Given the description of an element on the screen output the (x, y) to click on. 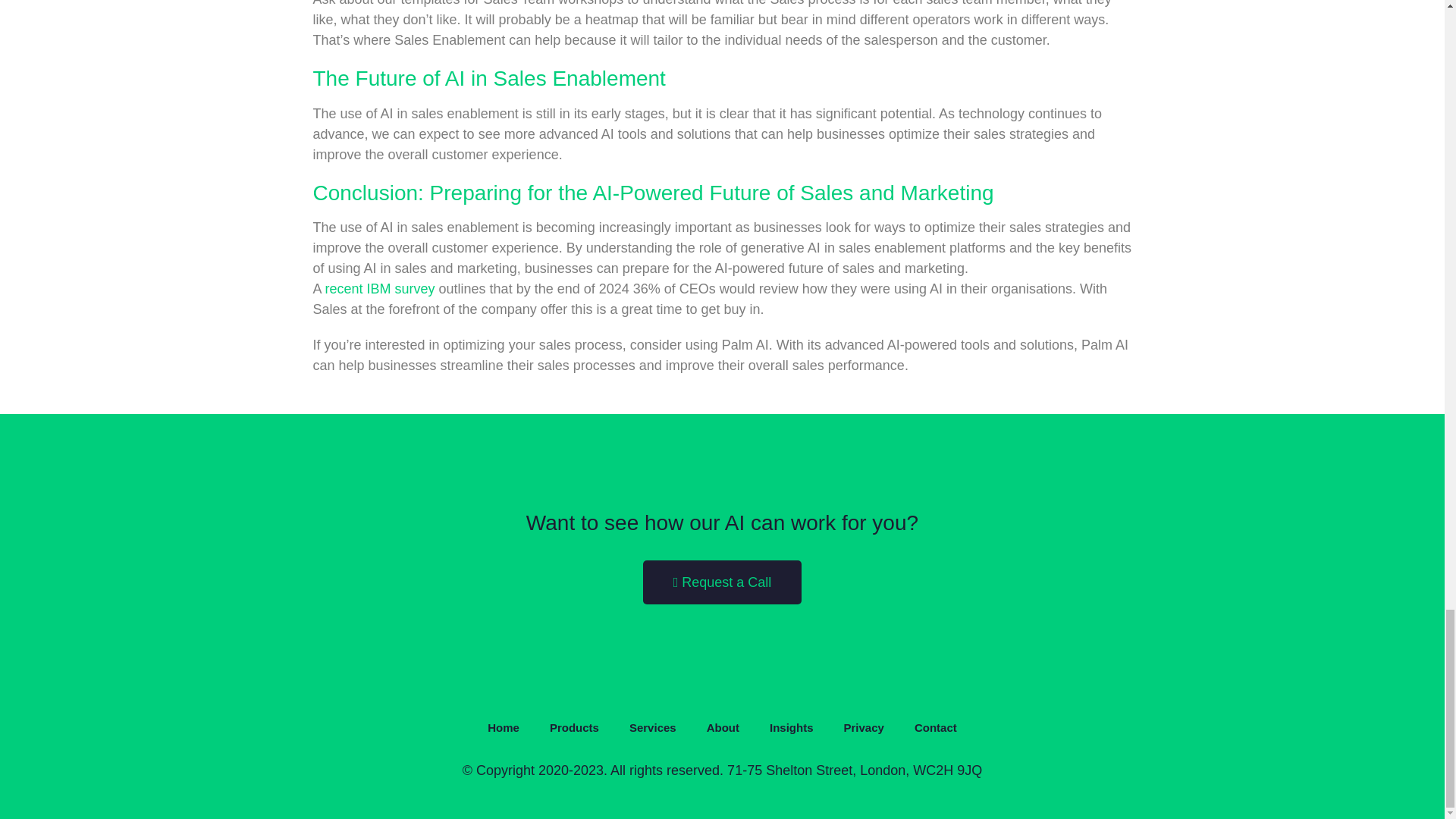
Privacy (863, 727)
About (722, 727)
Products (574, 727)
Insights (791, 727)
Services (652, 727)
recent IBM survey (379, 288)
Request a Call (722, 582)
Home (502, 727)
Contact (935, 727)
